Given the description of an element on the screen output the (x, y) to click on. 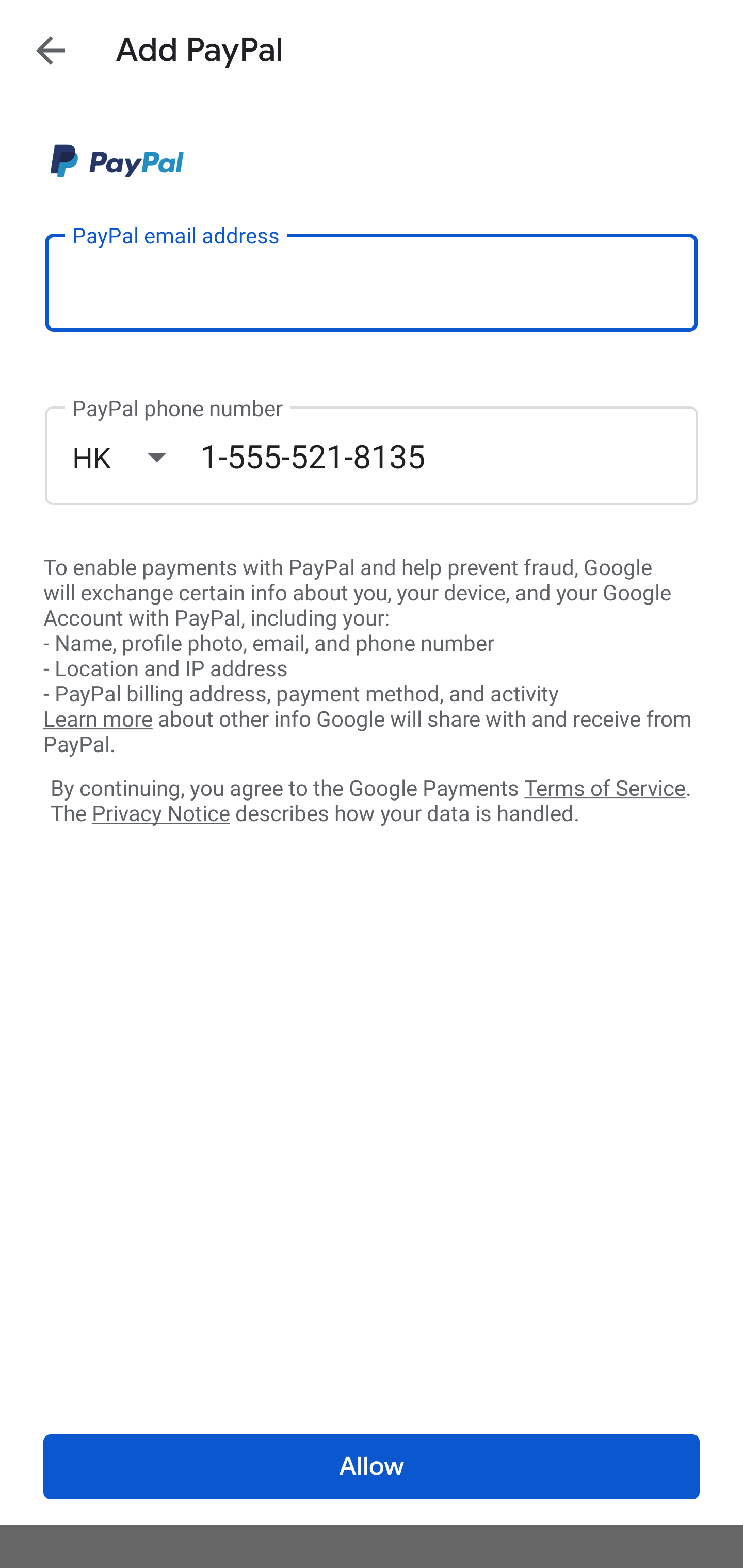
Navigate up (50, 50)
PayPal email address (371, 282)
HK (135, 456)
Learn more (97, 719)
Terms of Service (604, 787)
Privacy Notice (160, 814)
Allow (371, 1466)
